Given the description of an element on the screen output the (x, y) to click on. 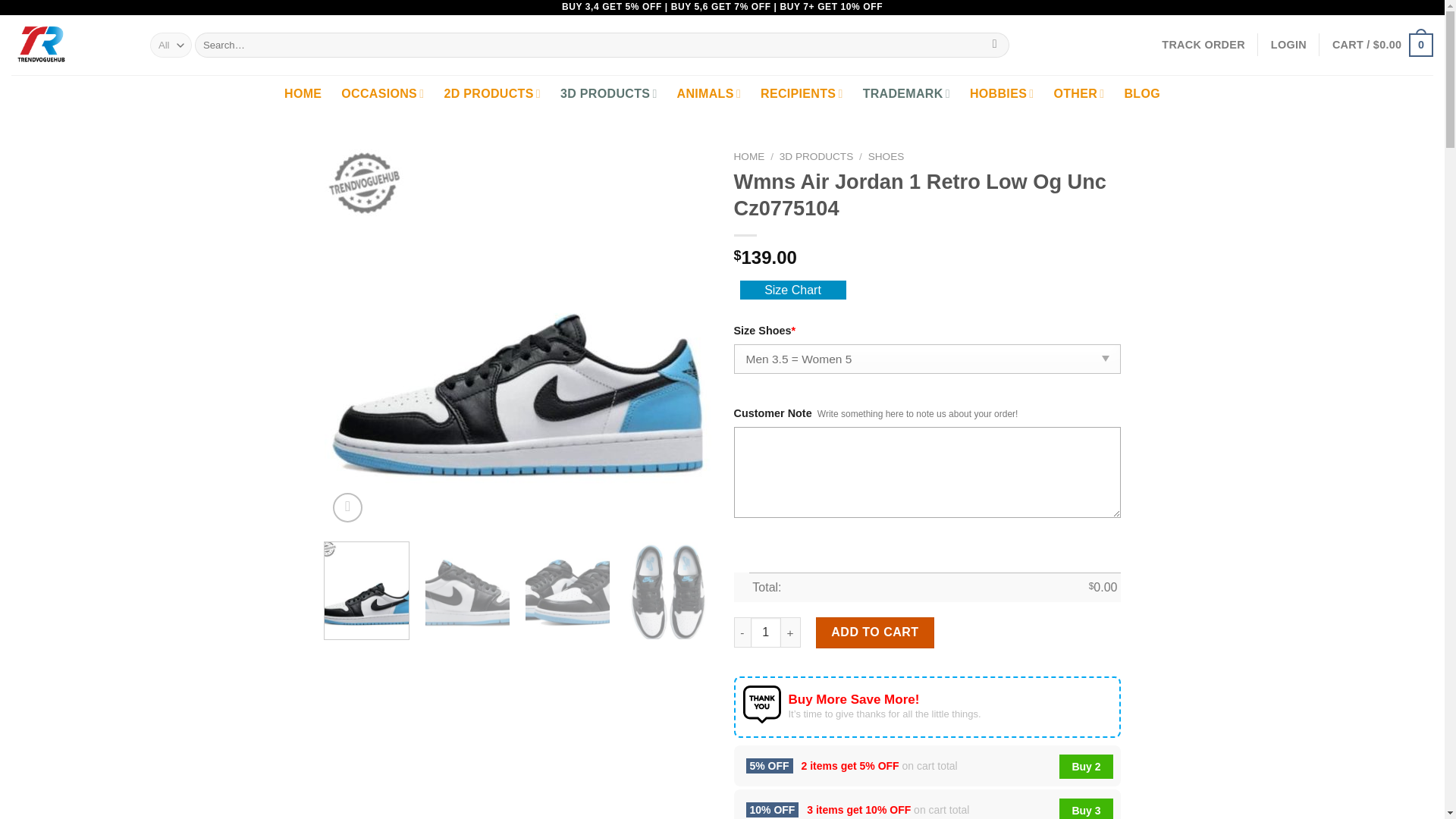
LOGIN (1288, 44)
Trendvoguehub - Just Your Style (69, 45)
HOME (302, 94)
3D PRODUCTS (609, 94)
1 (765, 632)
2D PRODUCTS (492, 94)
OCCASIONS (381, 94)
Track your order here! (1202, 44)
TRACK ORDER (1202, 44)
Cart (1382, 44)
Search (994, 45)
Wmns Air Jordan 1 Retro Low Og Unc Cz0775104 (904, 266)
ANIMALS (709, 94)
Zoom (347, 507)
